Given the description of an element on the screen output the (x, y) to click on. 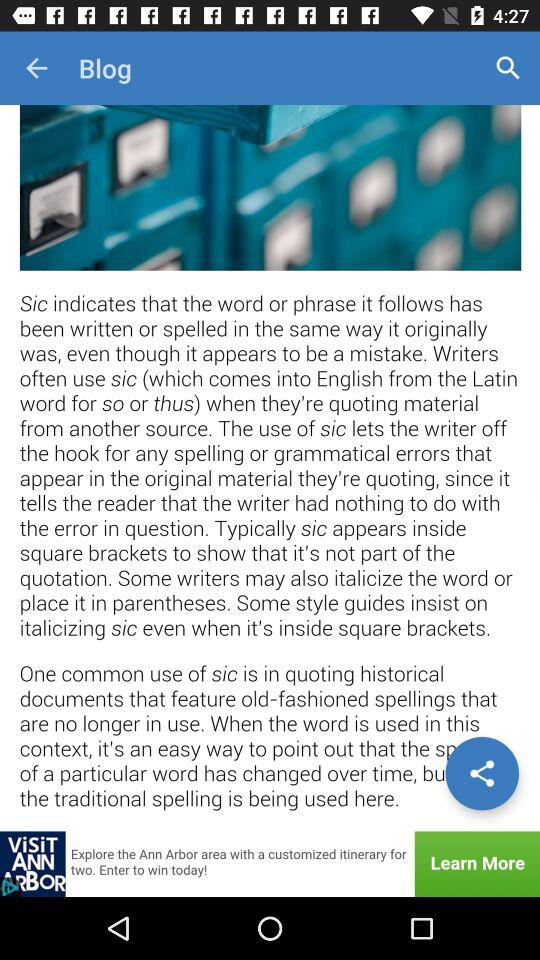
share (482, 773)
